Given the description of an element on the screen output the (x, y) to click on. 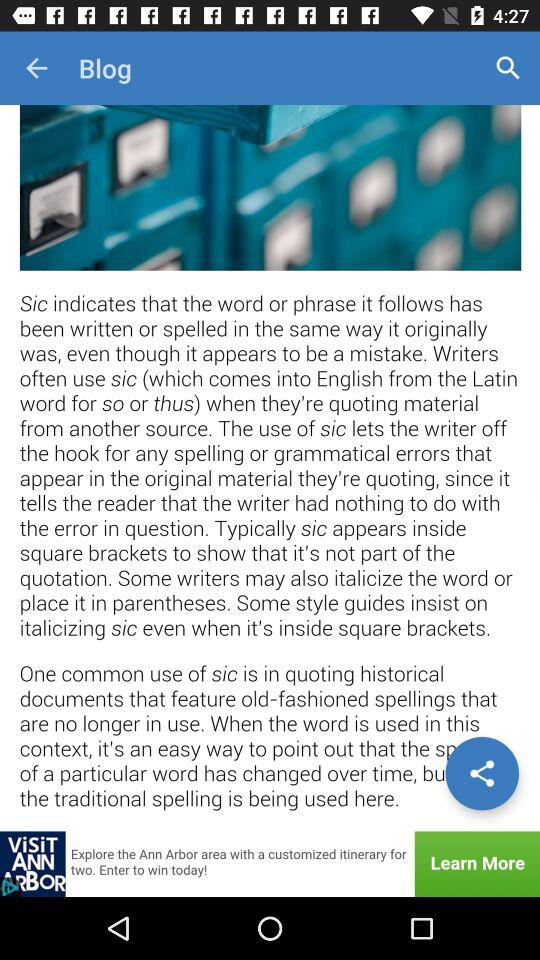
share (482, 773)
